Given the description of an element on the screen output the (x, y) to click on. 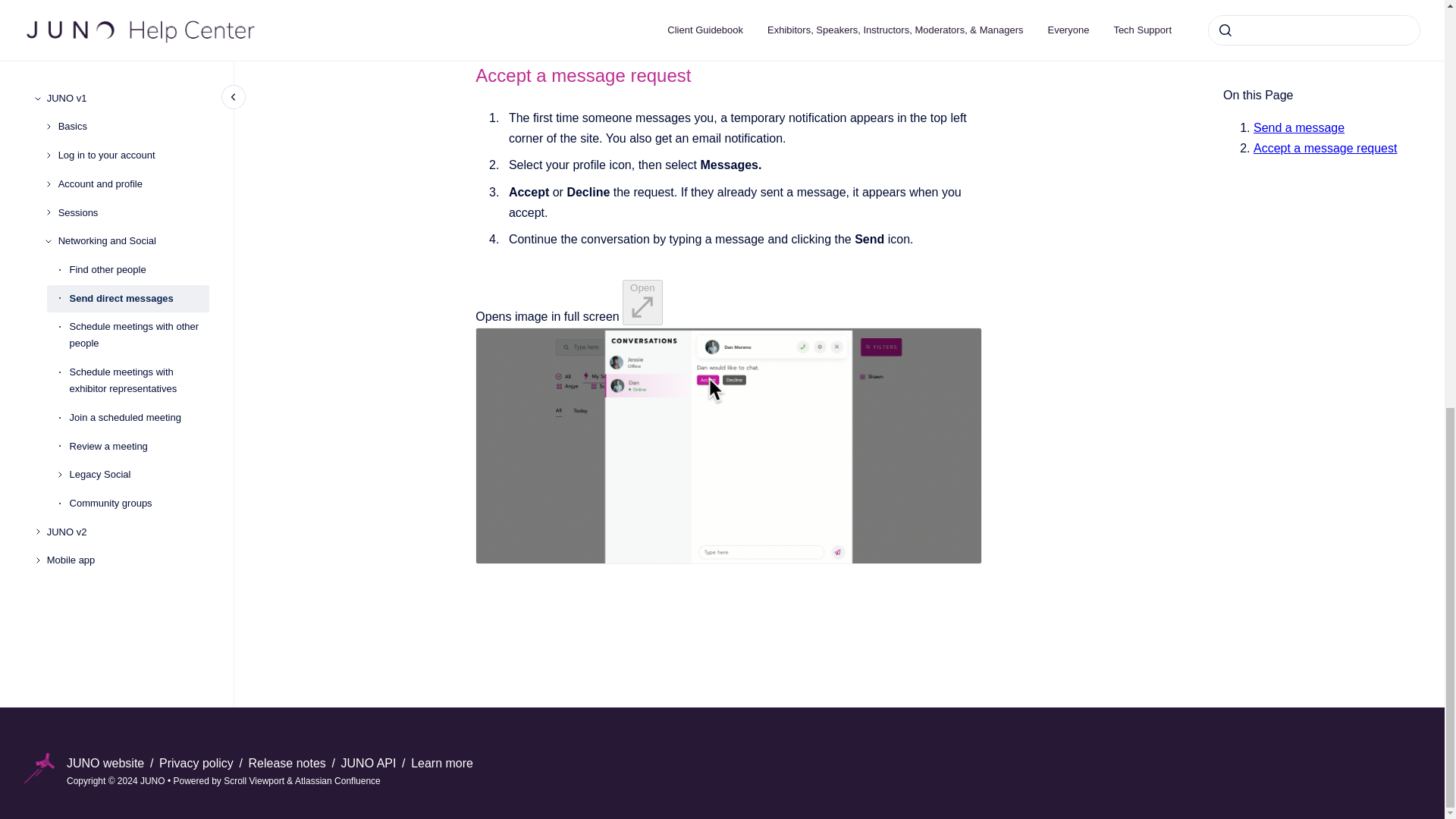
Copy to clipboard (468, 73)
